Given the description of an element on the screen output the (x, y) to click on. 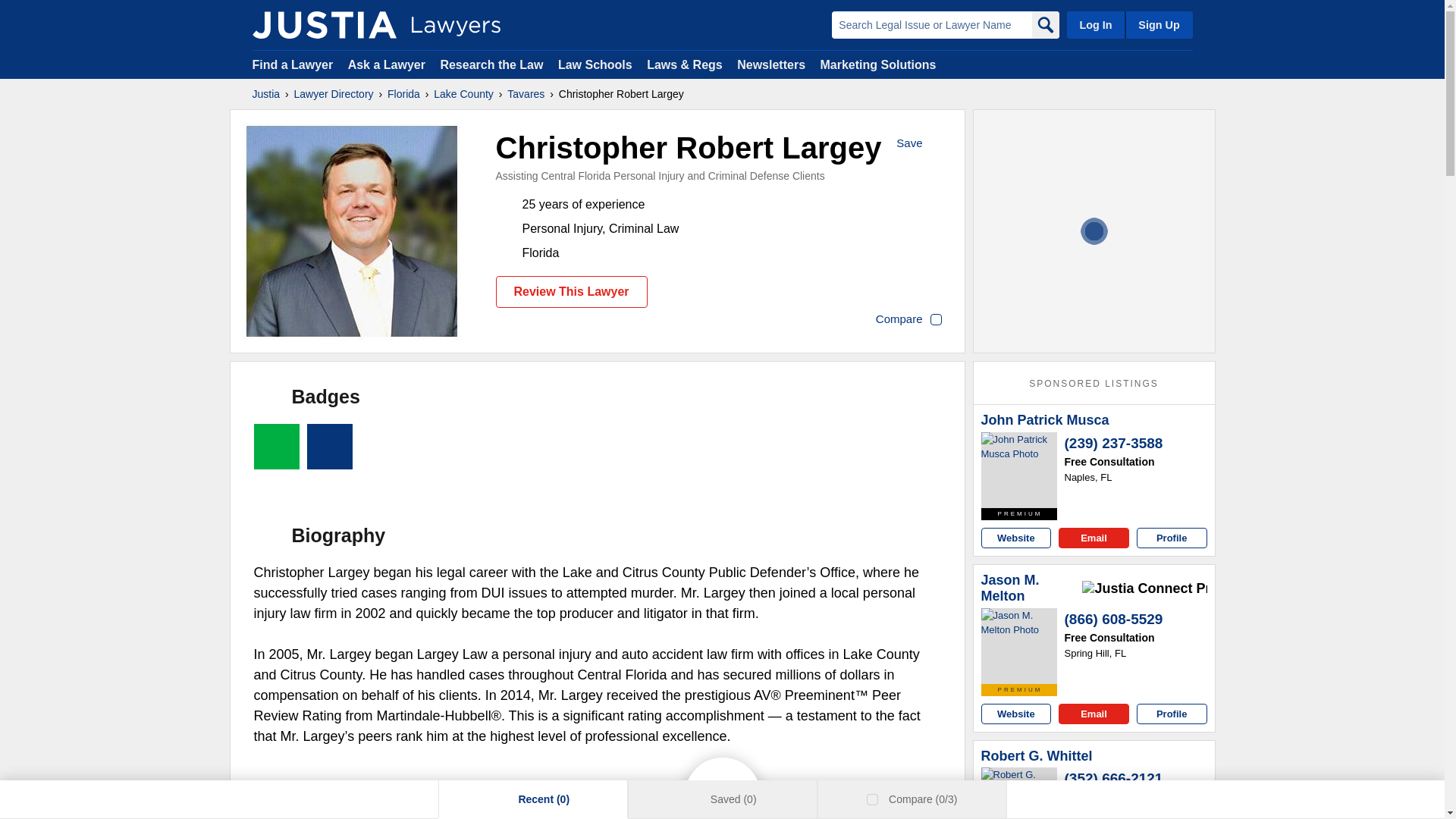
Robert G. Whittel (1019, 793)
Newsletters (770, 64)
Save (919, 143)
Compare (909, 319)
Ask a Lawyer (388, 64)
Search (1044, 24)
Jason M. Melton (1029, 588)
Law Schools (594, 64)
Tavares (525, 93)
Research the Law (491, 64)
Marketing Solutions (877, 64)
Florida (403, 93)
Sign Up (1158, 24)
Lake County (463, 93)
Robert G. Whittel (1037, 756)
